Given the description of an element on the screen output the (x, y) to click on. 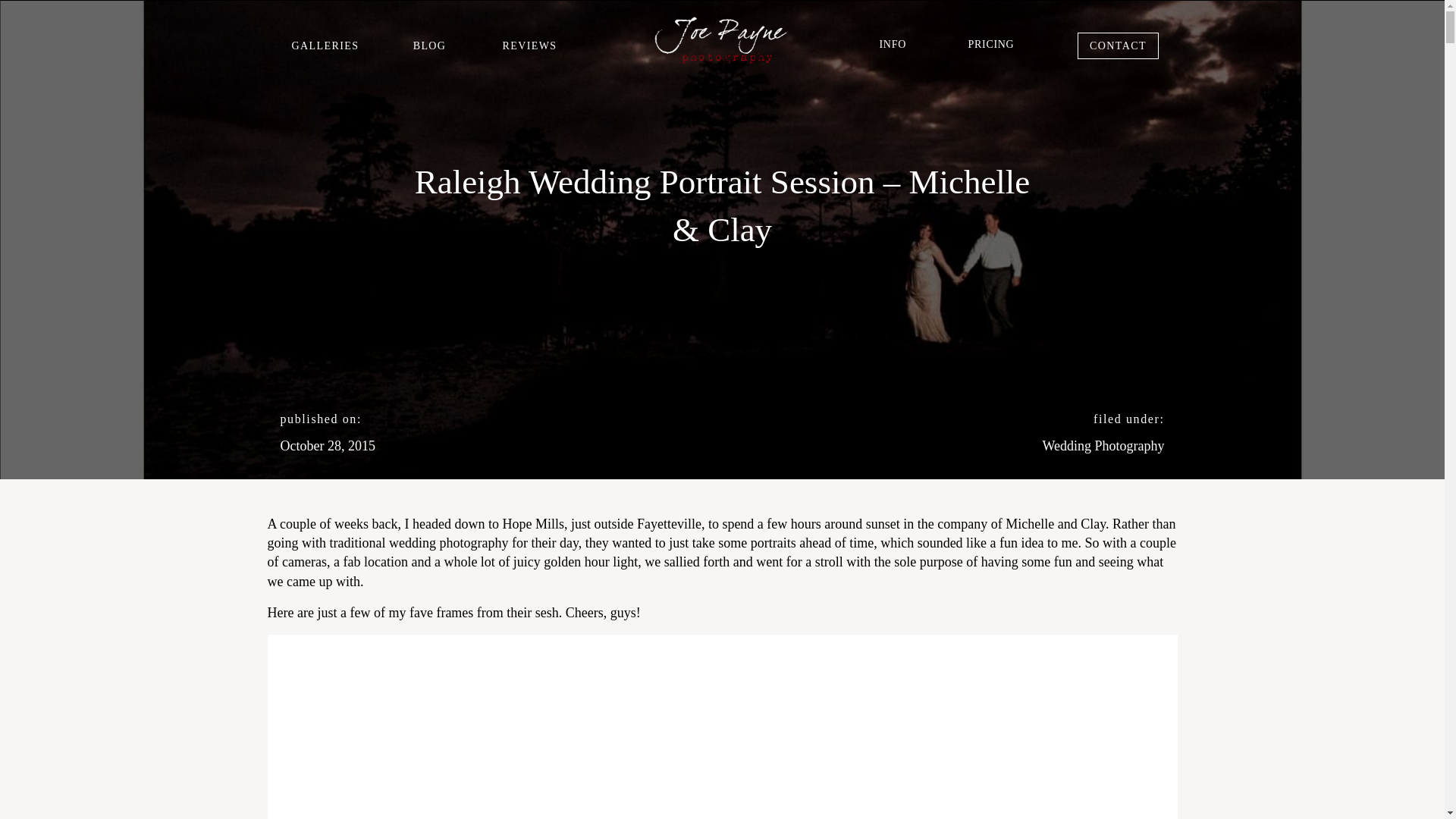
PRICING (990, 44)
CONTACT (1118, 46)
REVIEWS (529, 46)
Wedding Photography (1102, 445)
BLOG (429, 46)
INFO (892, 44)
GALLERIES (324, 46)
